Given the description of an element on the screen output the (x, y) to click on. 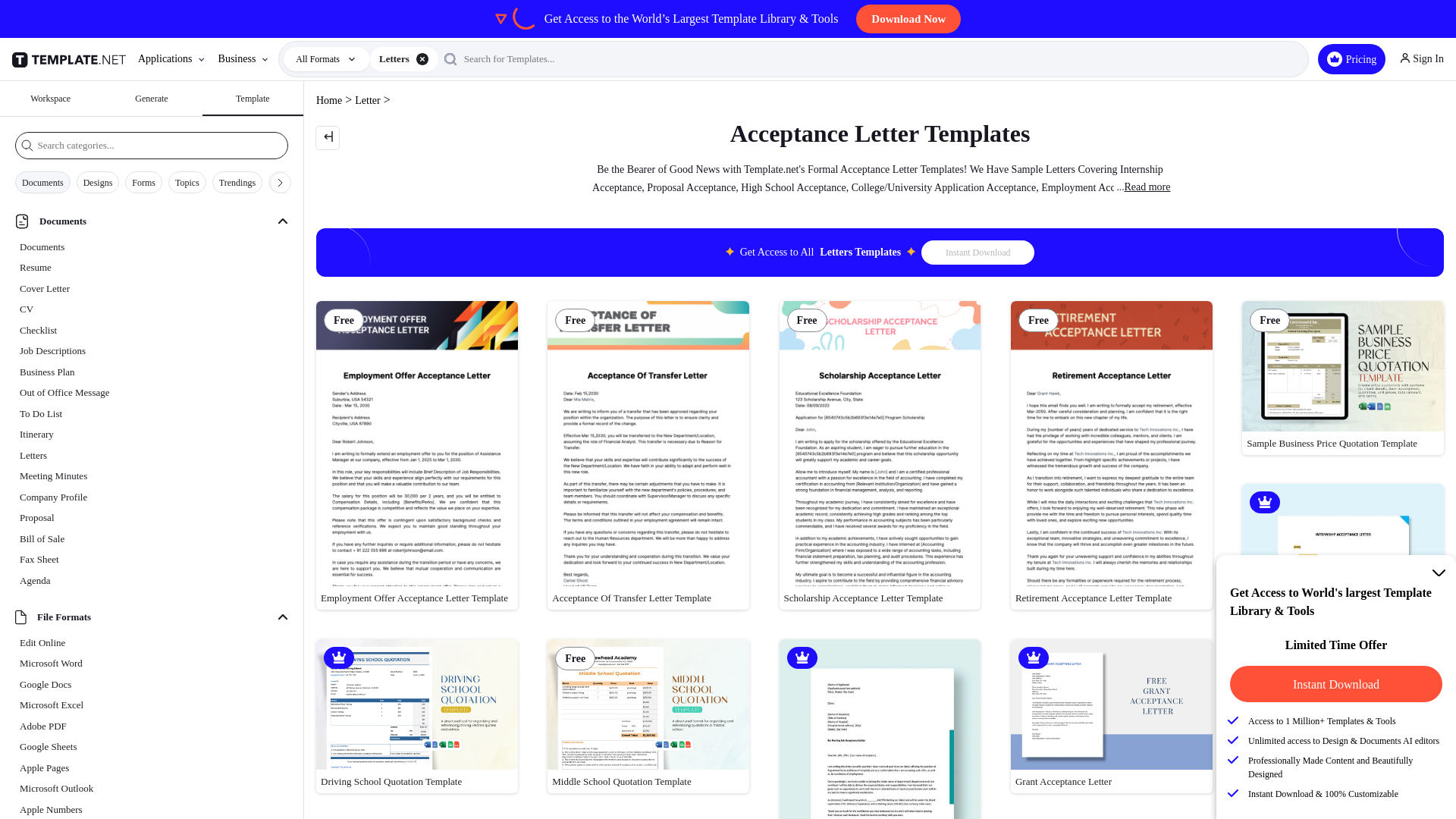
Template.net (71, 59)
Download Now (908, 18)
